Given the description of an element on the screen output the (x, y) to click on. 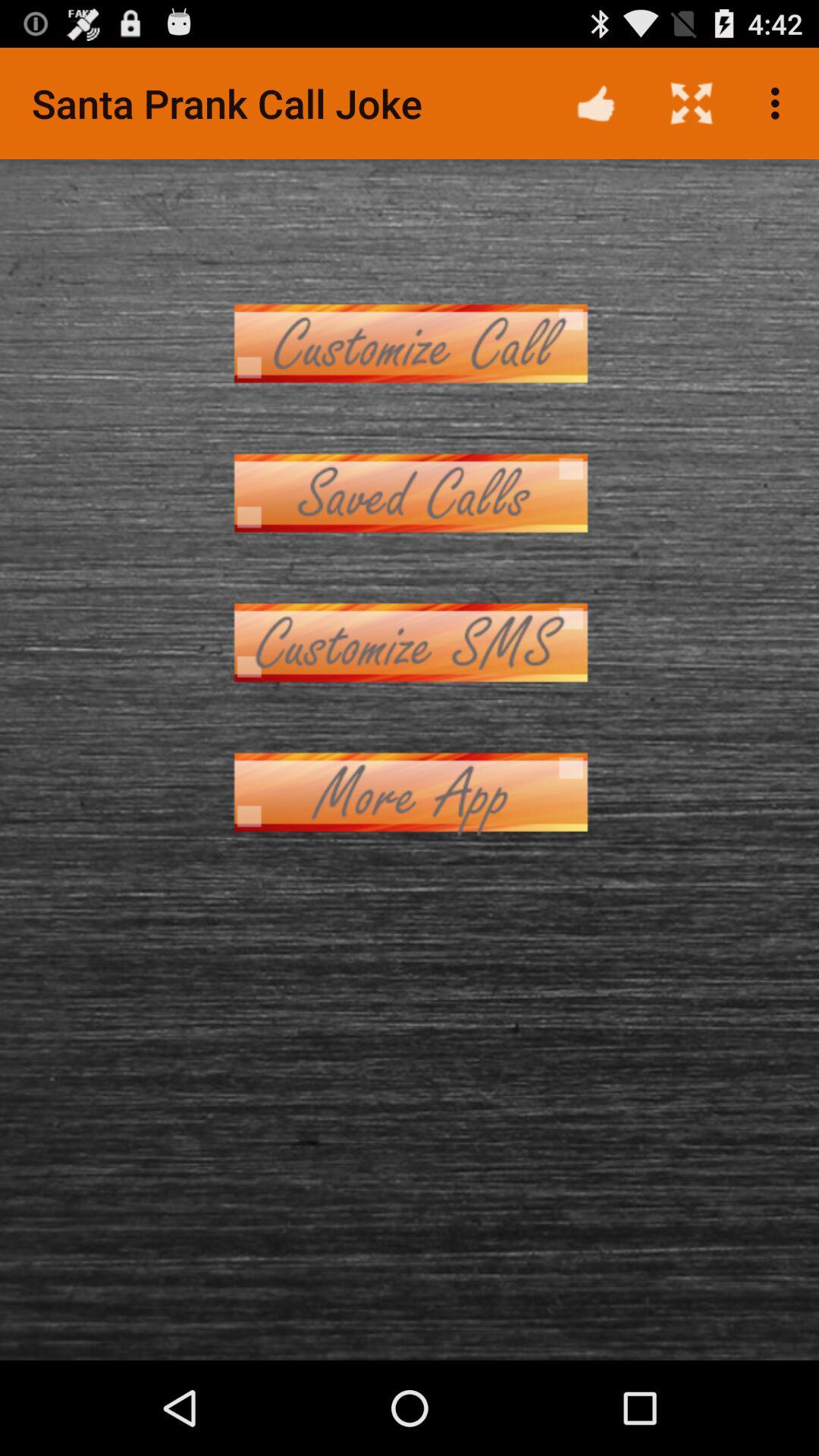
customize text (409, 642)
